Given the description of an element on the screen output the (x, y) to click on. 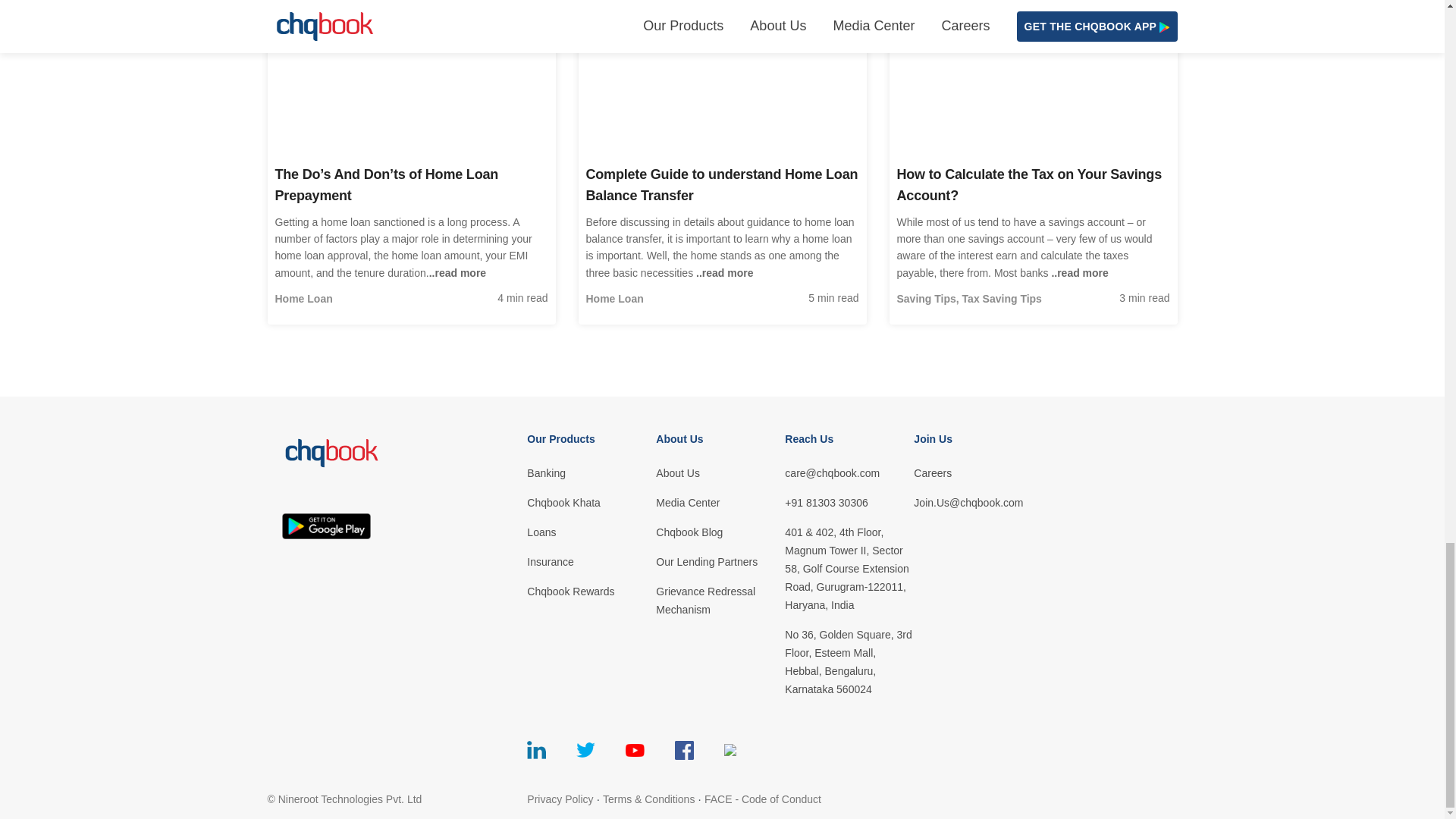
Privacy Policy (559, 799)
Banking (591, 473)
Insurance (591, 561)
Our Lending Partners (720, 561)
Careers (978, 473)
Chqbook Blog (720, 532)
FACE - Code of Conduct (762, 799)
About Us (720, 473)
Grievance Redressal Mechanism (720, 600)
Chqbook Rewards (591, 591)
Loans (591, 532)
Chqbook Khata (591, 502)
Media Center (720, 502)
